Given the description of an element on the screen output the (x, y) to click on. 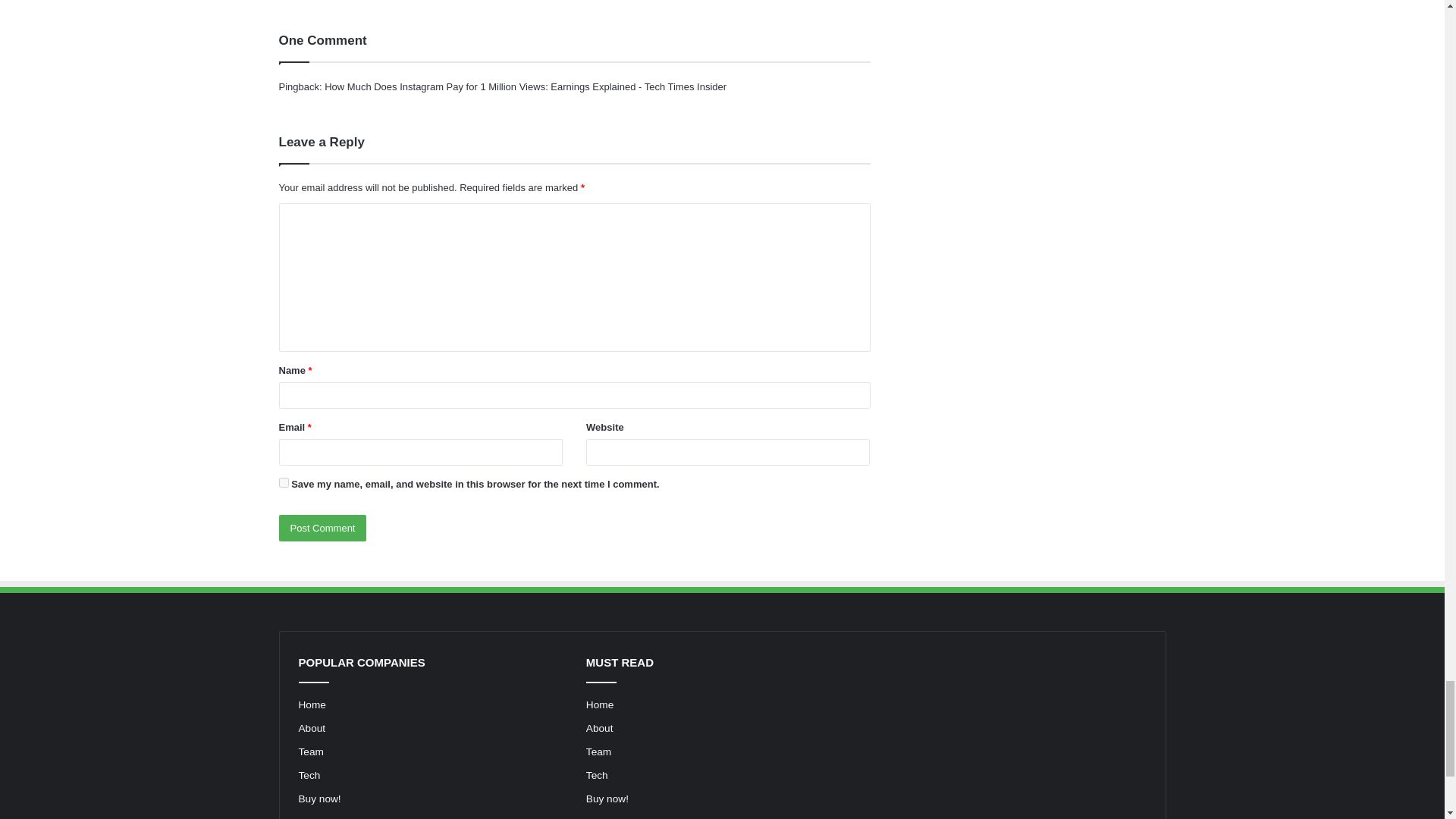
yes (283, 482)
Post Comment (322, 528)
